Given the description of an element on the screen output the (x, y) to click on. 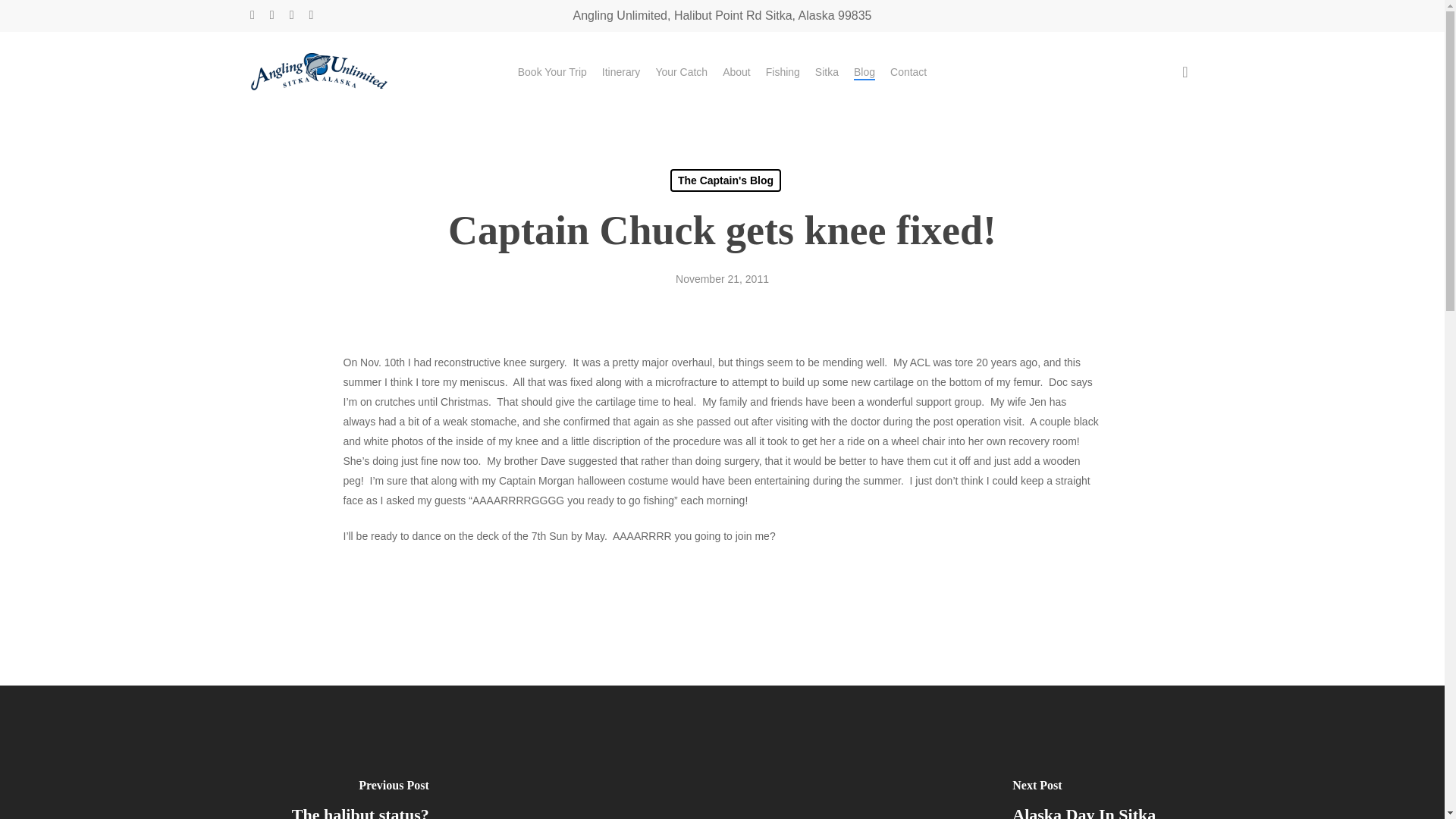
About (736, 71)
Sitka (826, 71)
Itinerary (621, 71)
Your Catch (681, 71)
Fishing (782, 71)
Angling Unlimited, Halibut Point Rd Sitka, Alaska 99835 (722, 15)
Blog (864, 71)
Book Your Trip (552, 71)
